Given the description of an element on the screen output the (x, y) to click on. 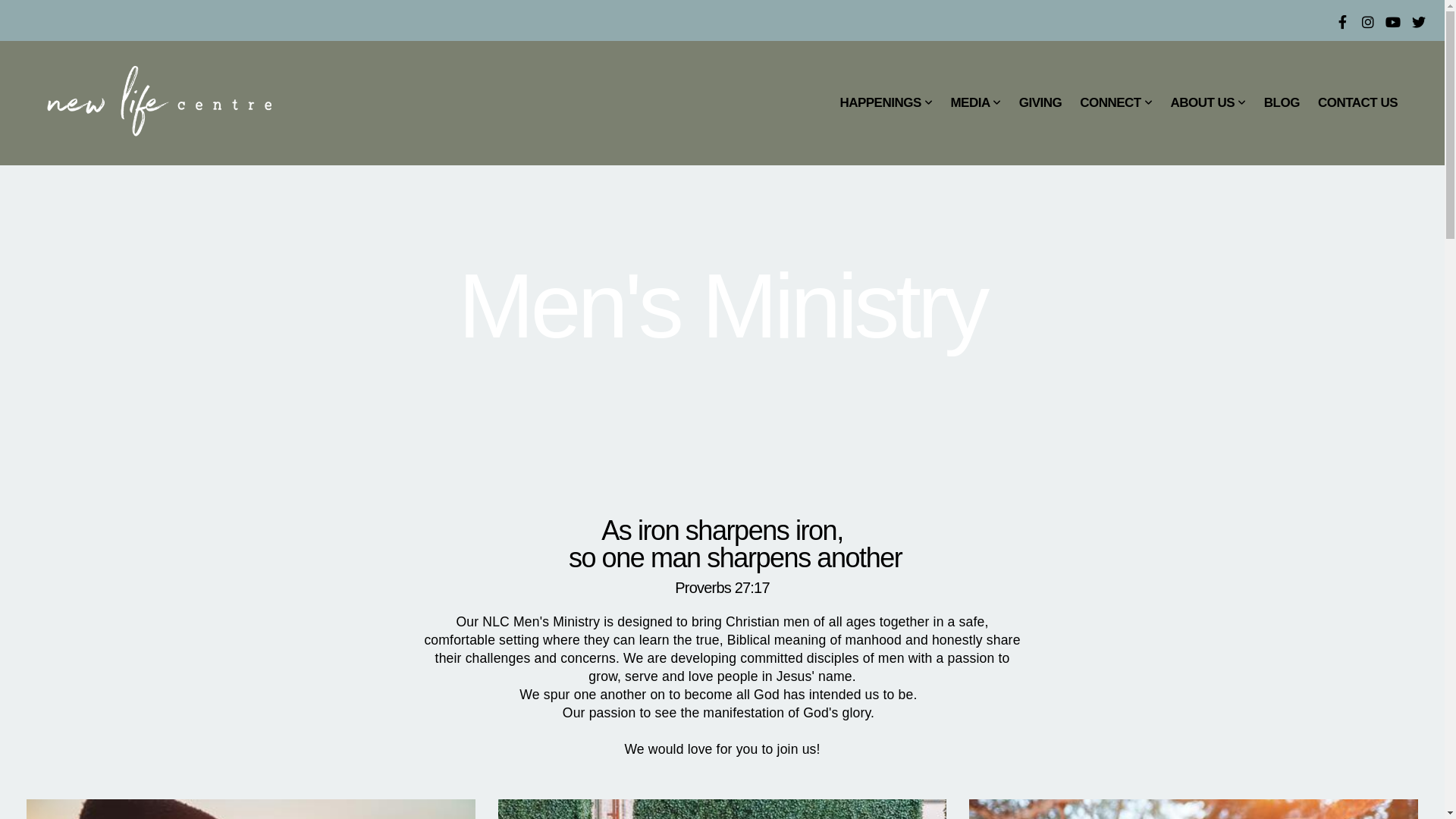
CONNECT  Element type: text (1115, 102)
ABOUT US  Element type: text (1207, 102)
MEDIA  Element type: text (974, 102)
CONTACT US Element type: text (1357, 102)
BLOG Element type: text (1281, 102)
GIVING Element type: text (1040, 102)
HAPPENINGS  Element type: text (885, 102)
